Given the description of an element on the screen output the (x, y) to click on. 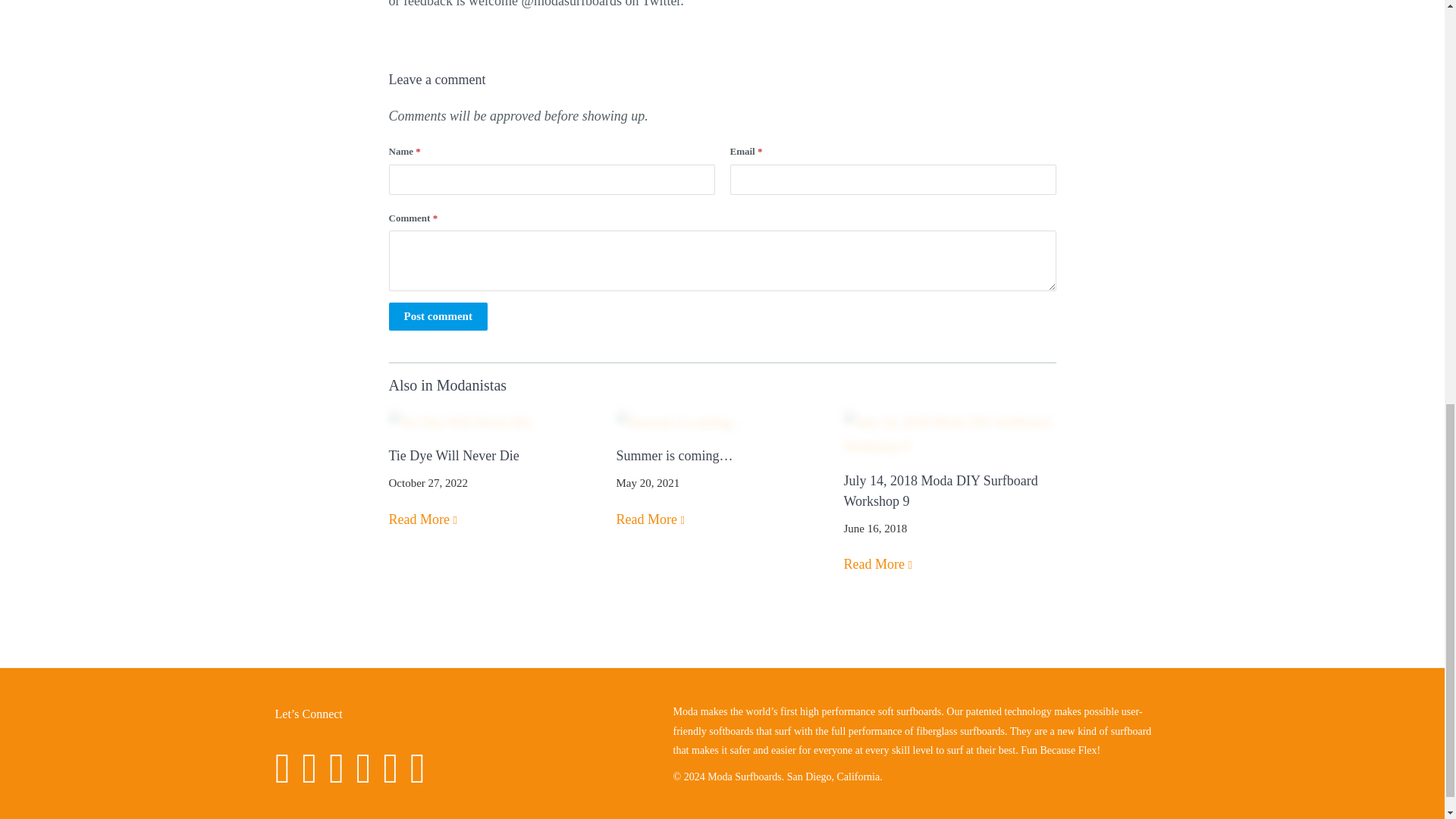
July 14, 2018 Moda DIY Surfboard Workshop 9 (878, 563)
Tie Dye Will Never Die (423, 519)
Tie Dye Will Never Die (453, 455)
Read More (650, 519)
Post comment (437, 316)
July 14, 2018 Moda DIY Surfboard Workshop 9 (939, 490)
July 14, 2018 Moda DIY Surfboard Workshop 9 (939, 490)
Tie Dye Will Never Die (453, 455)
Moda Surfboards (744, 776)
Post comment (437, 316)
